Given the description of an element on the screen output the (x, y) to click on. 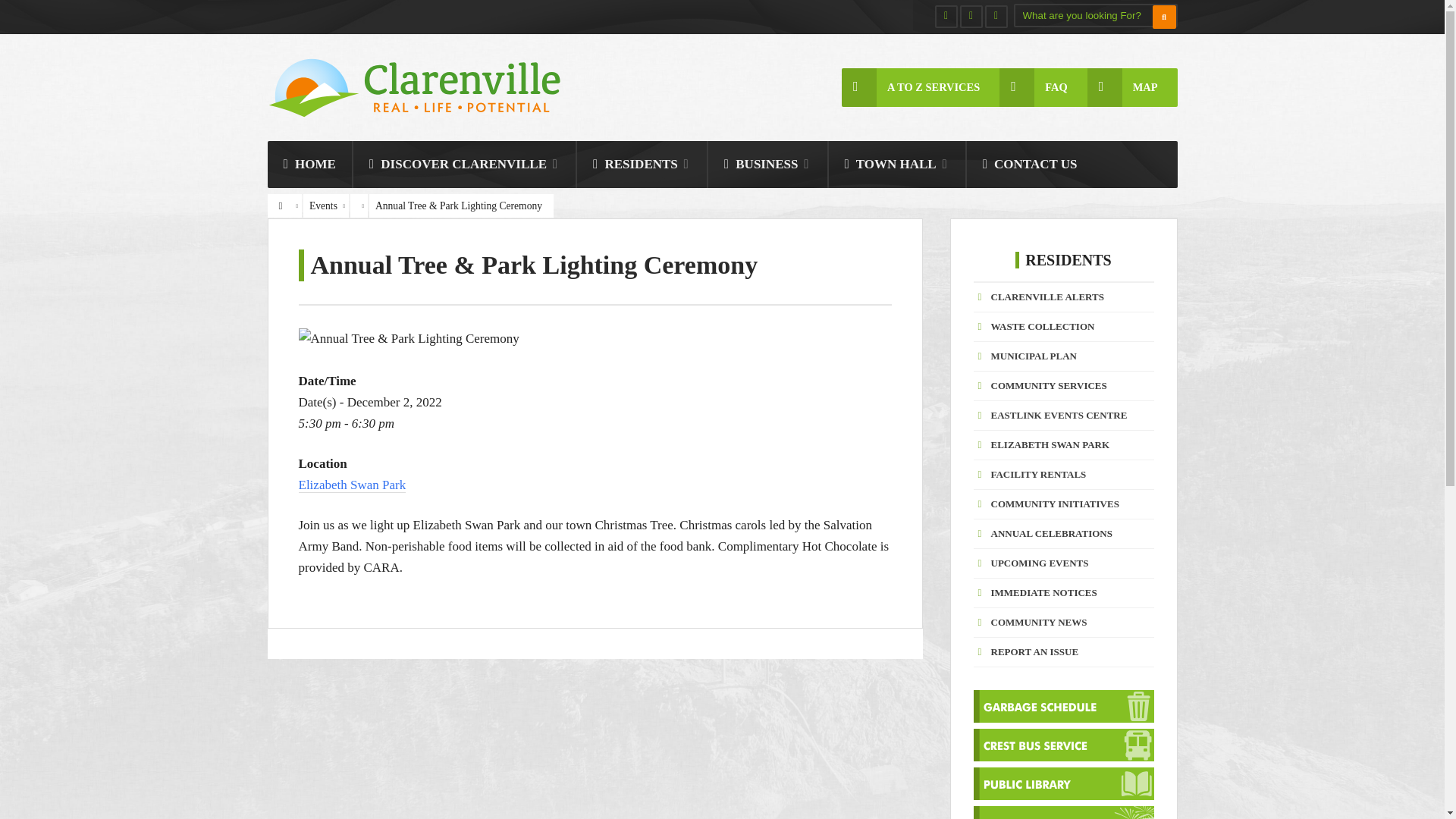
RESIDENTS (641, 164)
What are you looking For? (1094, 15)
Twitter (970, 15)
Facebook (945, 15)
DISCOVER CLARENVILLE (464, 164)
You Tube (995, 15)
HOME (309, 164)
